Given the description of an element on the screen output the (x, y) to click on. 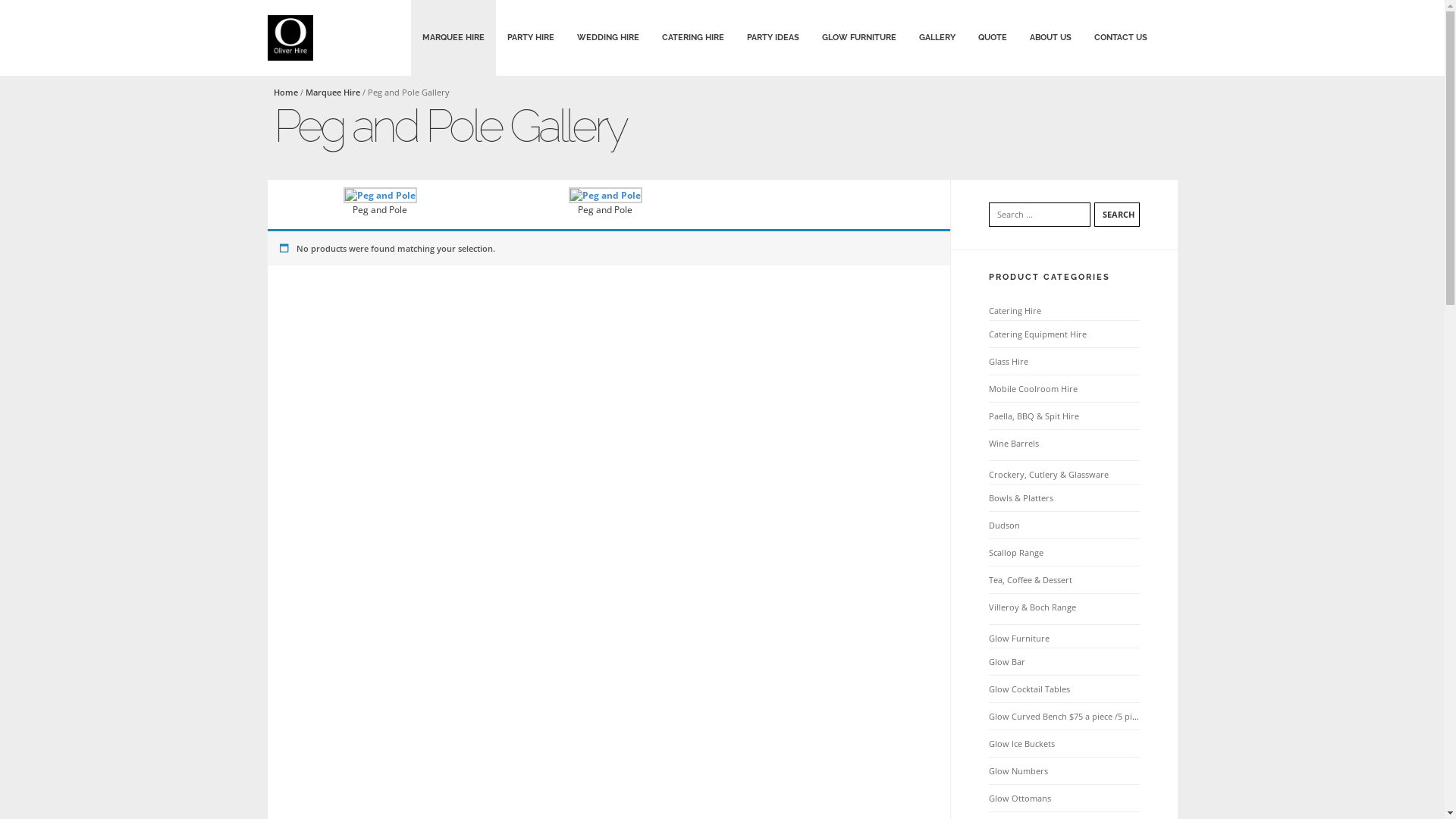
Home Element type: text (285, 91)
Marquee Hire Element type: text (331, 91)
Catering Hire Element type: text (1014, 310)
Wine Barrels Element type: text (1013, 442)
PARTY IDEAS Element type: text (772, 37)
Glow Furniture Element type: text (1018, 637)
Glass Hire Element type: text (1008, 361)
Crockery, Cutlery & Glassware Element type: text (1048, 474)
Tea, Coffee & Dessert Element type: text (1030, 579)
Villeroy & Boch Range Element type: text (1032, 606)
Bowls & Platters Element type: text (1020, 497)
CONTACT US Element type: text (1120, 37)
Catering Equipment Hire Element type: text (1037, 333)
Search Element type: text (1116, 214)
GALLERY Element type: text (936, 37)
Mobile Coolroom Hire Element type: text (1032, 388)
Glow Cocktail Tables Element type: text (1029, 688)
Glow Ottomans Element type: text (1019, 797)
PARTY HIRE Element type: text (530, 37)
Glow Curved Bench $75 a piece /5 pieces per circle Element type: text (1087, 715)
GLOW FURNITURE Element type: text (857, 37)
ABOUT US Element type: text (1049, 37)
QUOTE Element type: text (991, 37)
Glow Bar Element type: text (1006, 661)
Glow Ice Buckets Element type: text (1021, 743)
Paella, BBQ & Spit Hire Element type: text (1033, 415)
MARQUEE HIRE Element type: text (453, 37)
Dudson Element type: text (1003, 524)
Scallop Range Element type: text (1015, 552)
CATERING HIRE Element type: text (692, 37)
WEDDING HIRE Element type: text (607, 37)
Glow Numbers Element type: text (1018, 770)
